Given the description of an element on the screen output the (x, y) to click on. 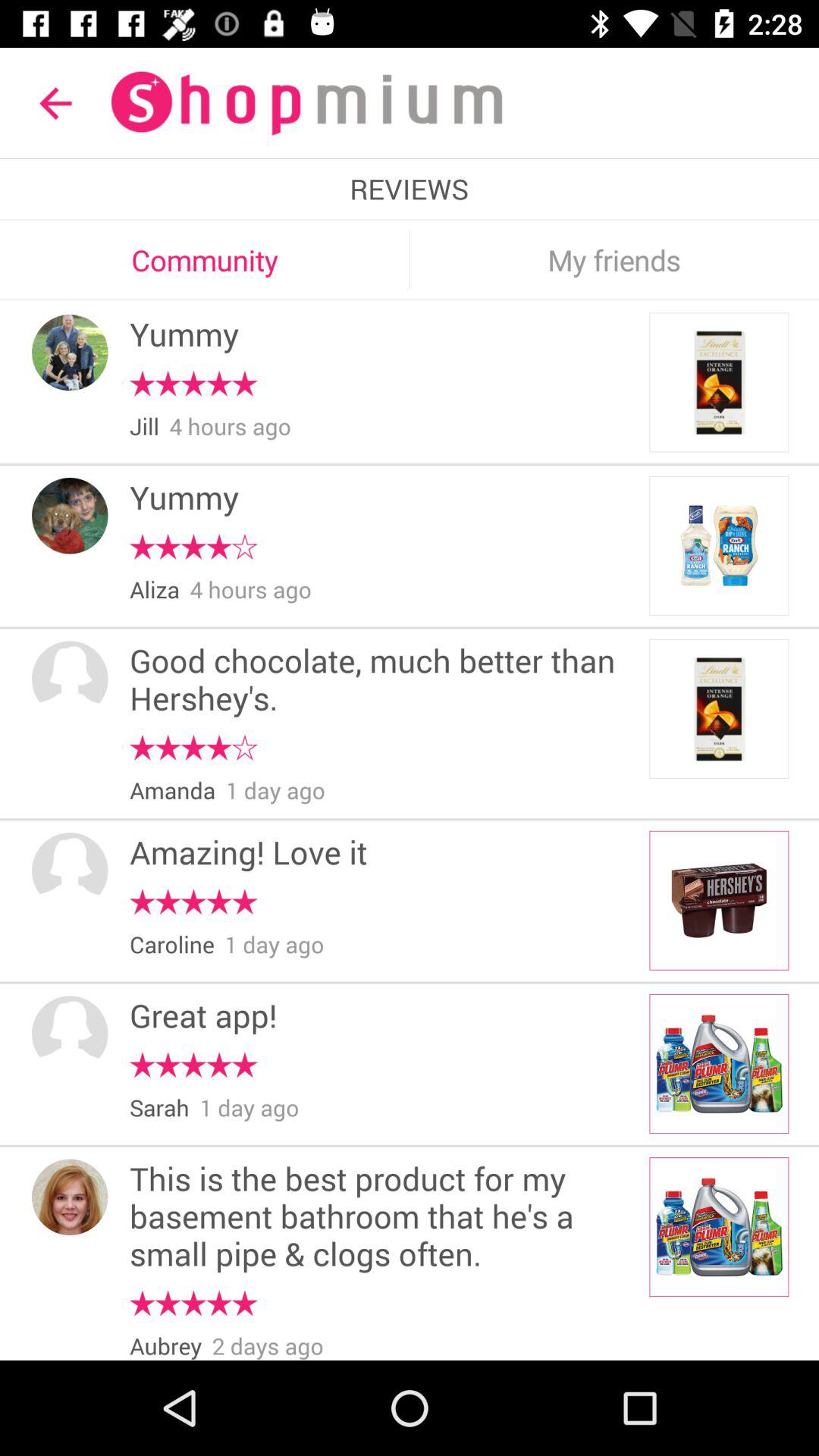
turn on item above amanda (193, 747)
